Given the description of an element on the screen output the (x, y) to click on. 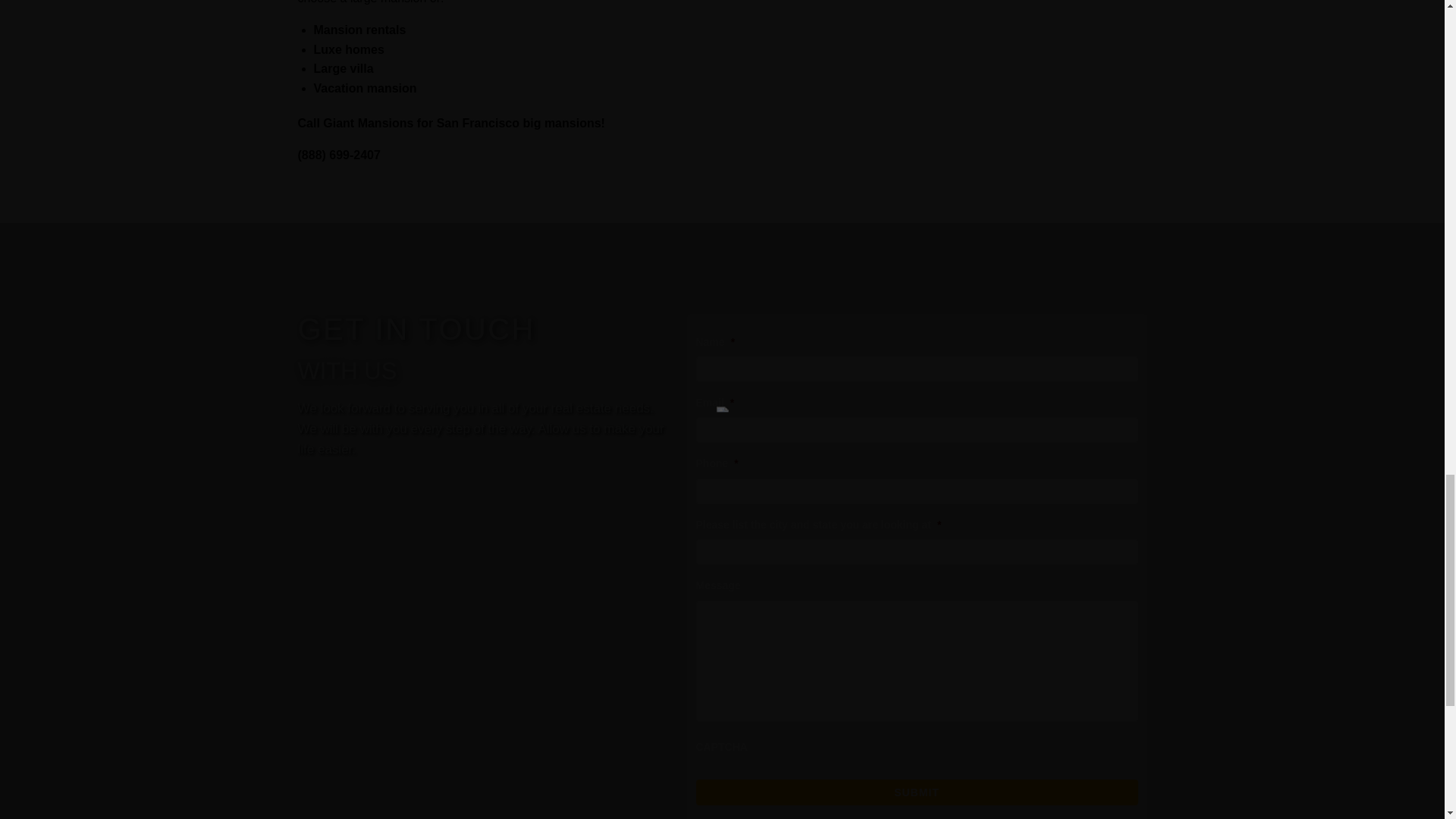
Submit (916, 792)
